Given the description of an element on the screen output the (x, y) to click on. 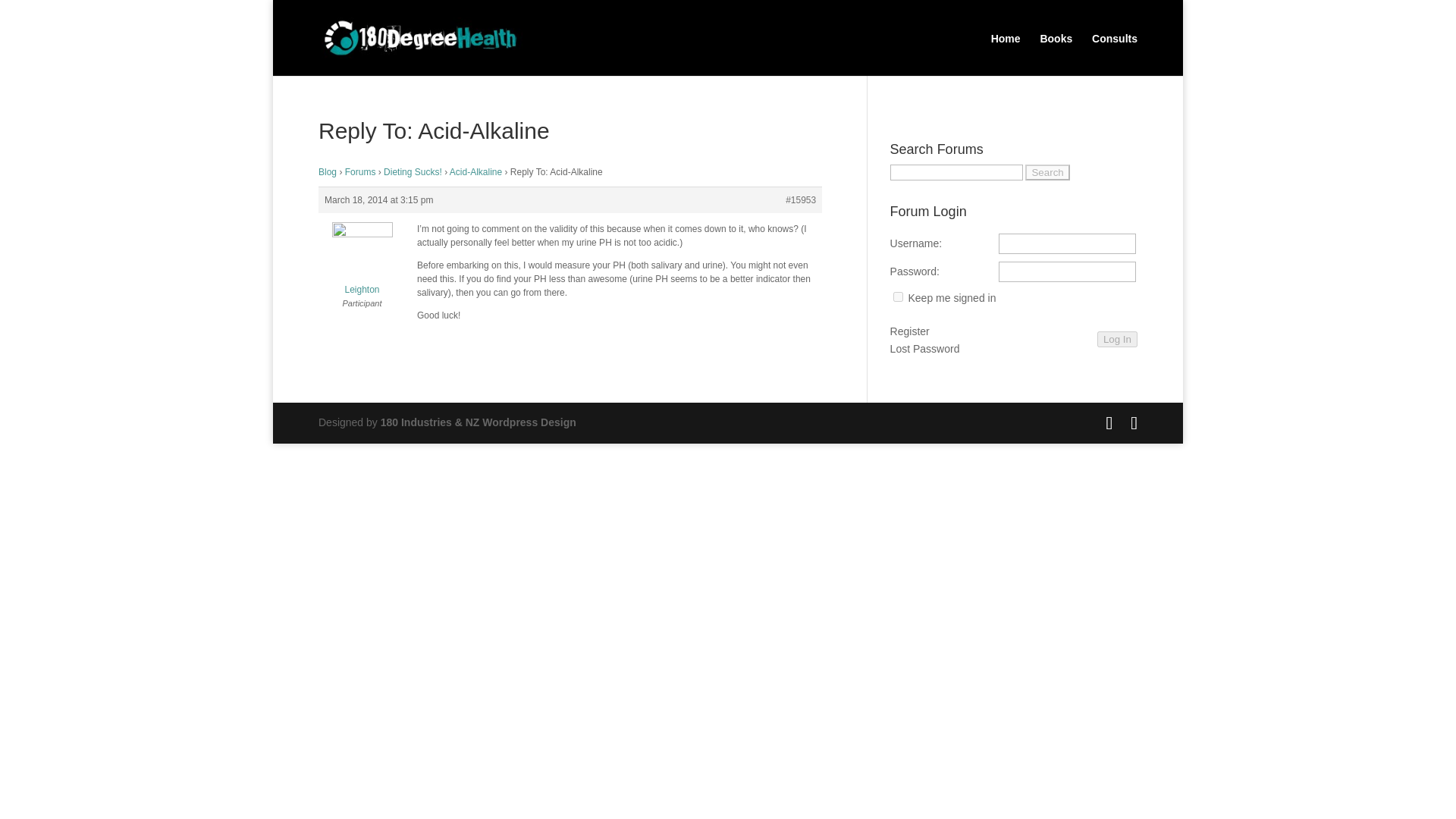
forever (897, 296)
Log In (1117, 339)
Register (909, 331)
NZ Wordpress Design (478, 422)
Search (1046, 172)
Lost Password (924, 349)
Register (909, 331)
Home (1005, 49)
Forums (360, 172)
Dieting Sucks! (413, 172)
